Given the description of an element on the screen output the (x, y) to click on. 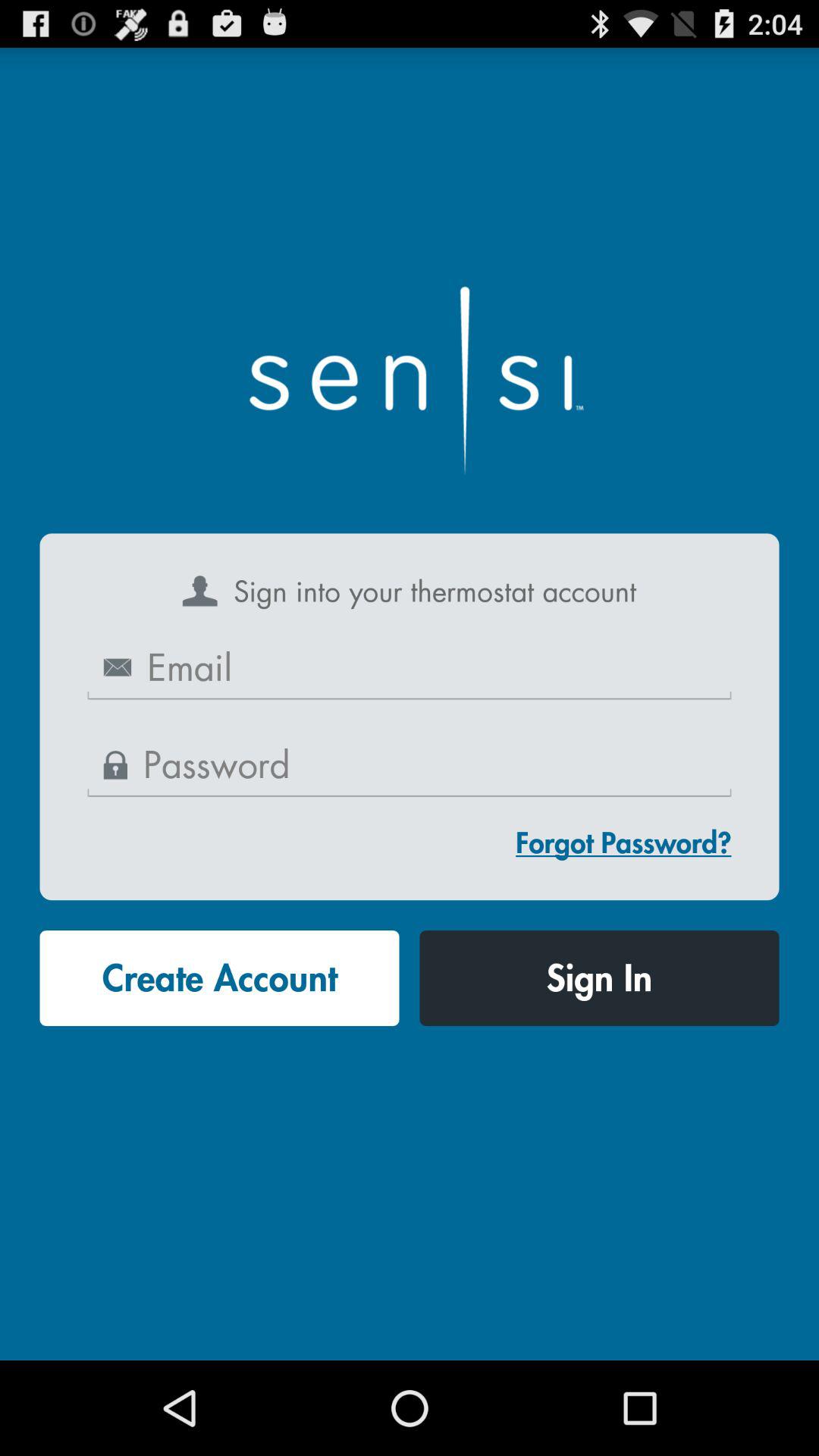
enter email address (409, 668)
